Given the description of an element on the screen output the (x, y) to click on. 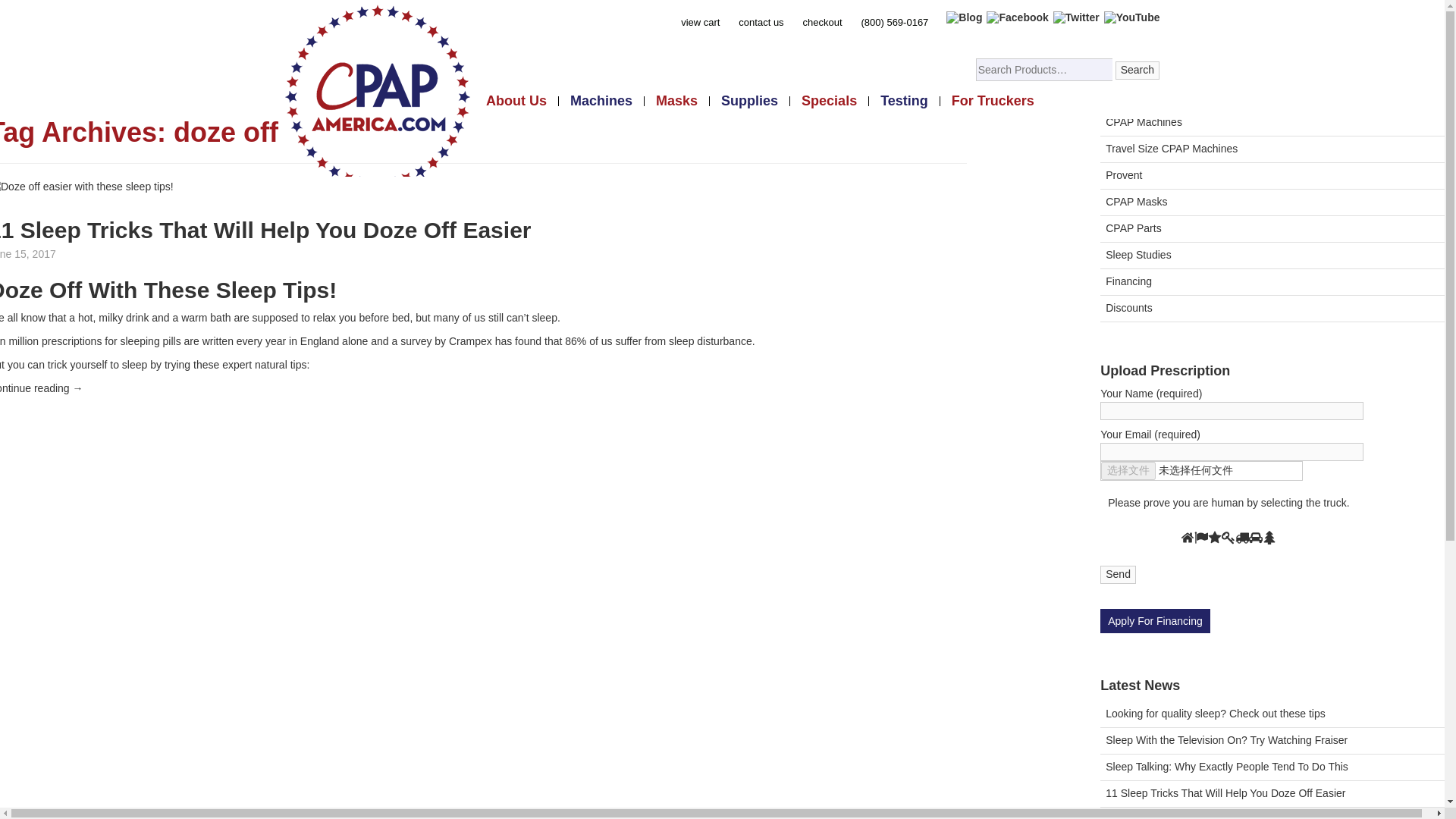
Machines (600, 101)
Looking for quality sleep? Check out these tips (1272, 714)
Twitter (1075, 17)
CPAP Machines (1272, 122)
CPAP Parts (1272, 229)
11 Sleep Tricks That Will Help You Doze Off Easier (265, 229)
Facebook (1017, 17)
Financing (1272, 282)
Blog (963, 16)
Discounts (1272, 308)
